Given the description of an element on the screen output the (x, y) to click on. 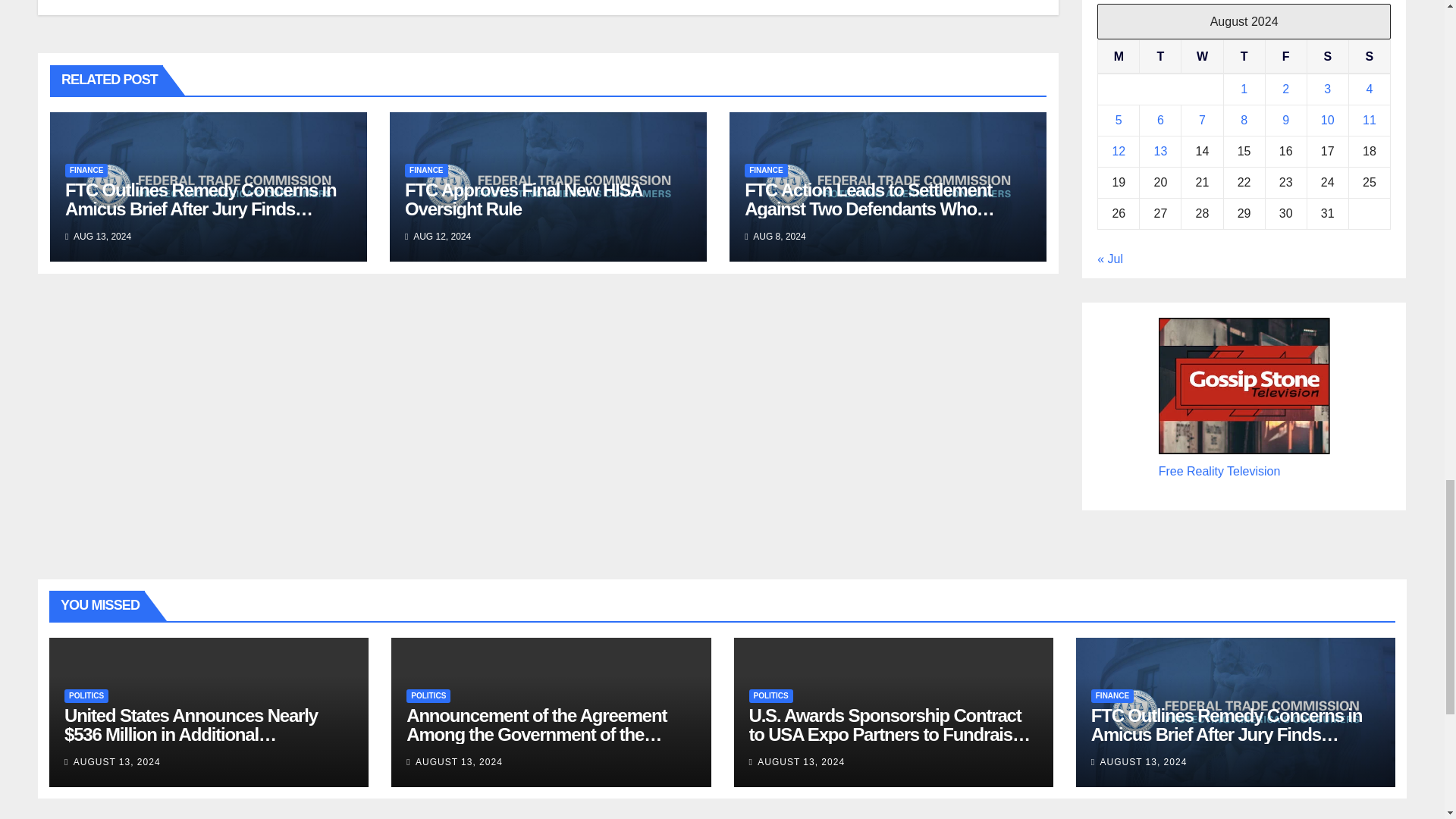
Wednesday (1201, 56)
FINANCE (86, 170)
FINANCE (425, 170)
FINANCE (765, 170)
Tuesday (1160, 56)
FTC Approves Final New HISA Oversight Rule (523, 199)
Monday (1118, 56)
